Given the description of an element on the screen output the (x, y) to click on. 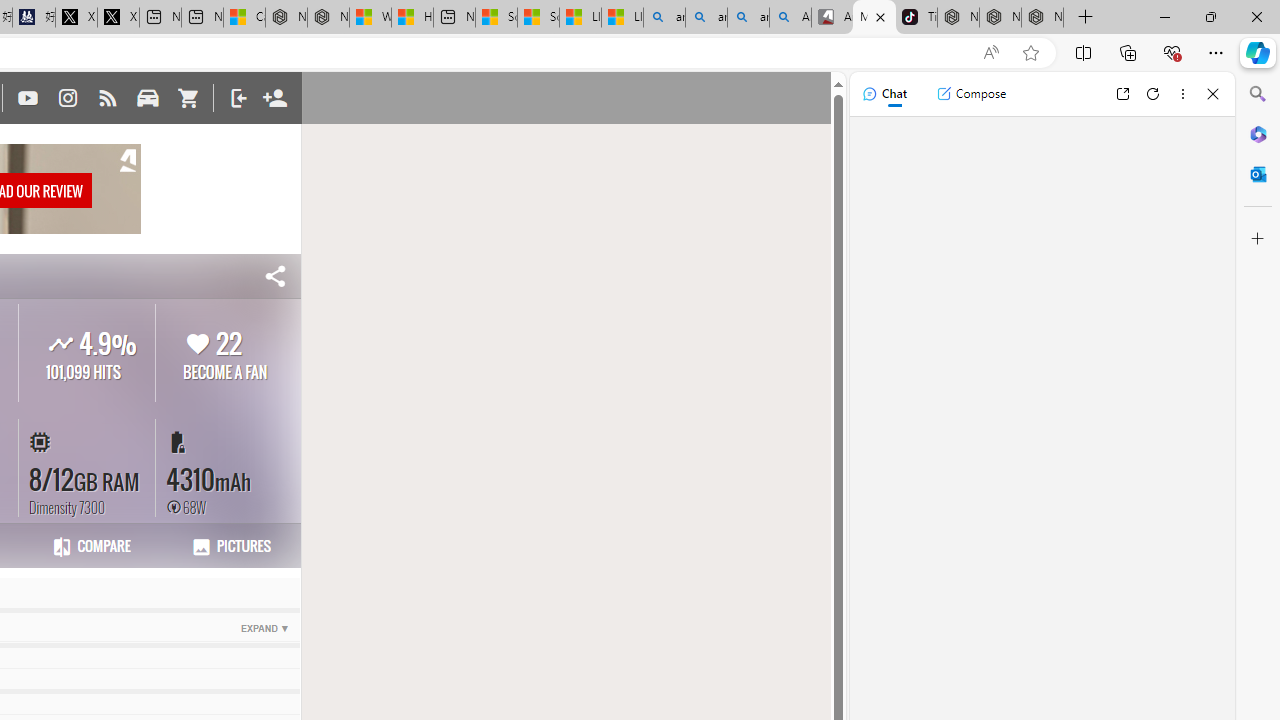
Compose (971, 93)
Customize (1258, 239)
Microsoft 365 (1258, 133)
Wildlife - MSN (369, 17)
Nordace Siena Pro 15 Backpack (1000, 17)
